Given the description of an element on the screen output the (x, y) to click on. 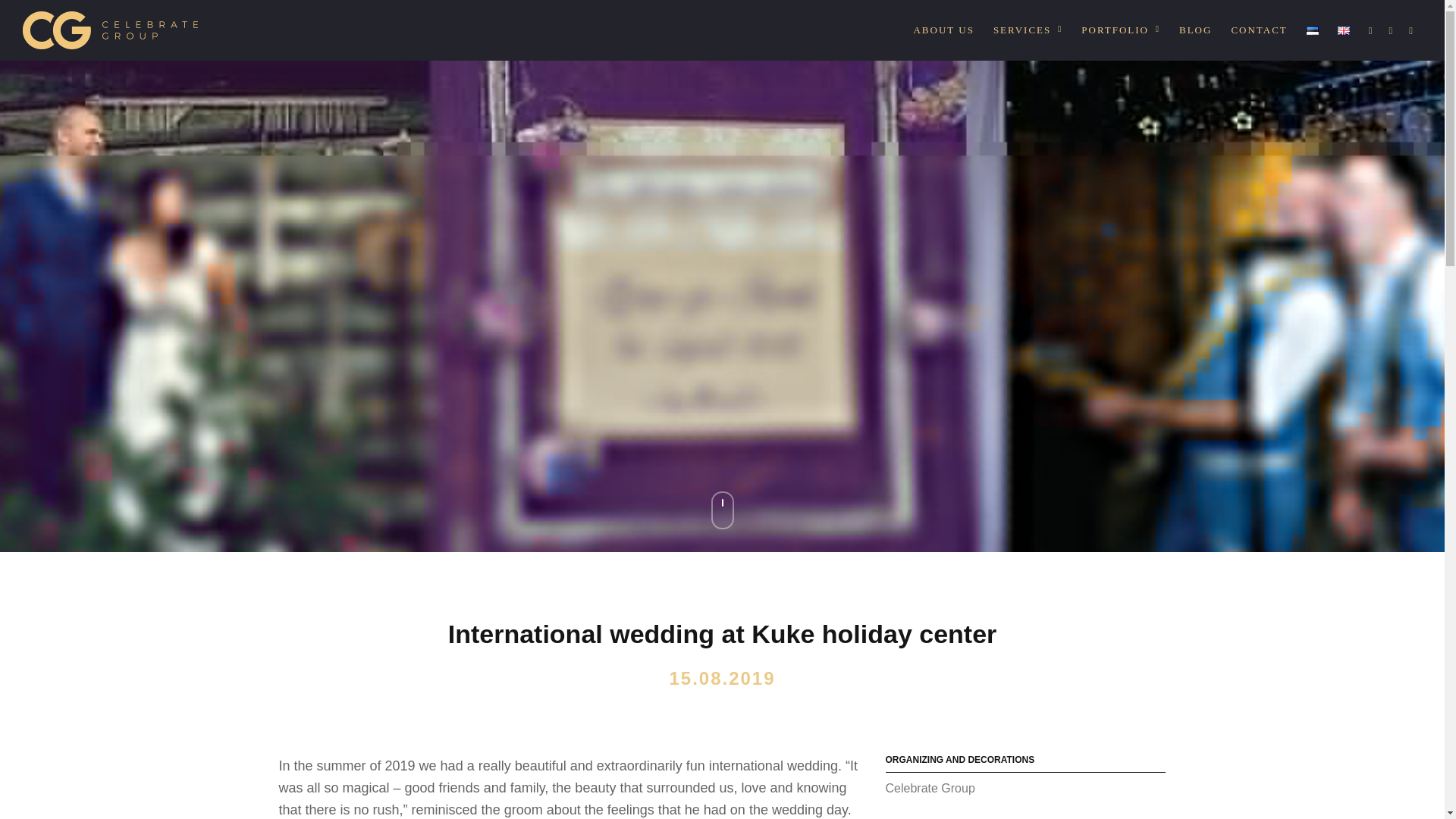
SERVICES (1027, 29)
CONTACT (1258, 29)
PORTFOLIO (1120, 29)
ABOUT US (943, 29)
BLOG (1195, 29)
